Given the description of an element on the screen output the (x, y) to click on. 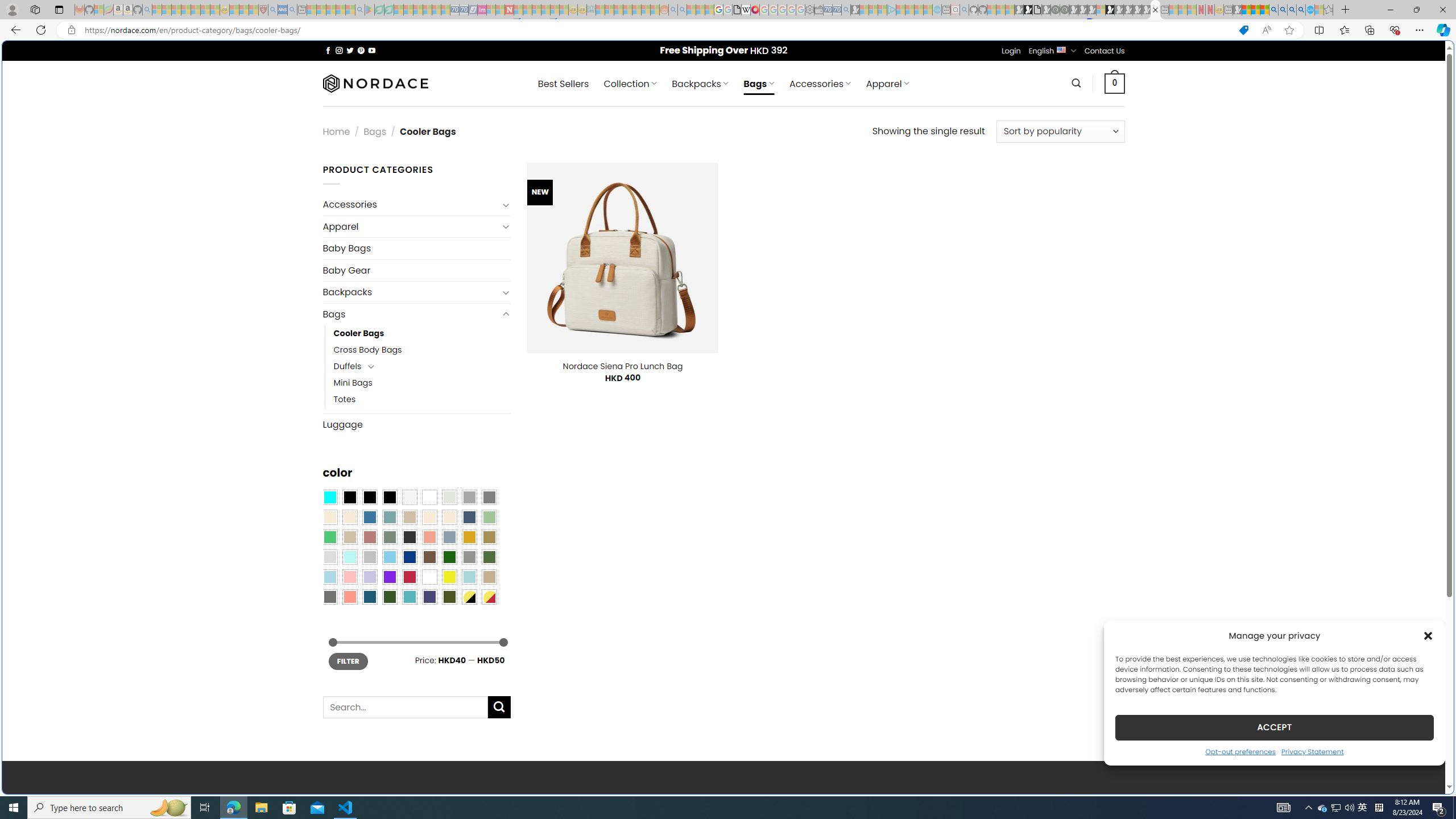
  Best Sellers (563, 83)
Apparel (410, 226)
Bing AI - Search (1272, 9)
Clear (429, 497)
Black (369, 497)
Beige-Brown (349, 517)
Cream (449, 517)
utah sues federal government - Search (922, 389)
Hale Navy (468, 517)
Privacy Statement (1312, 750)
